Given the description of an element on the screen output the (x, y) to click on. 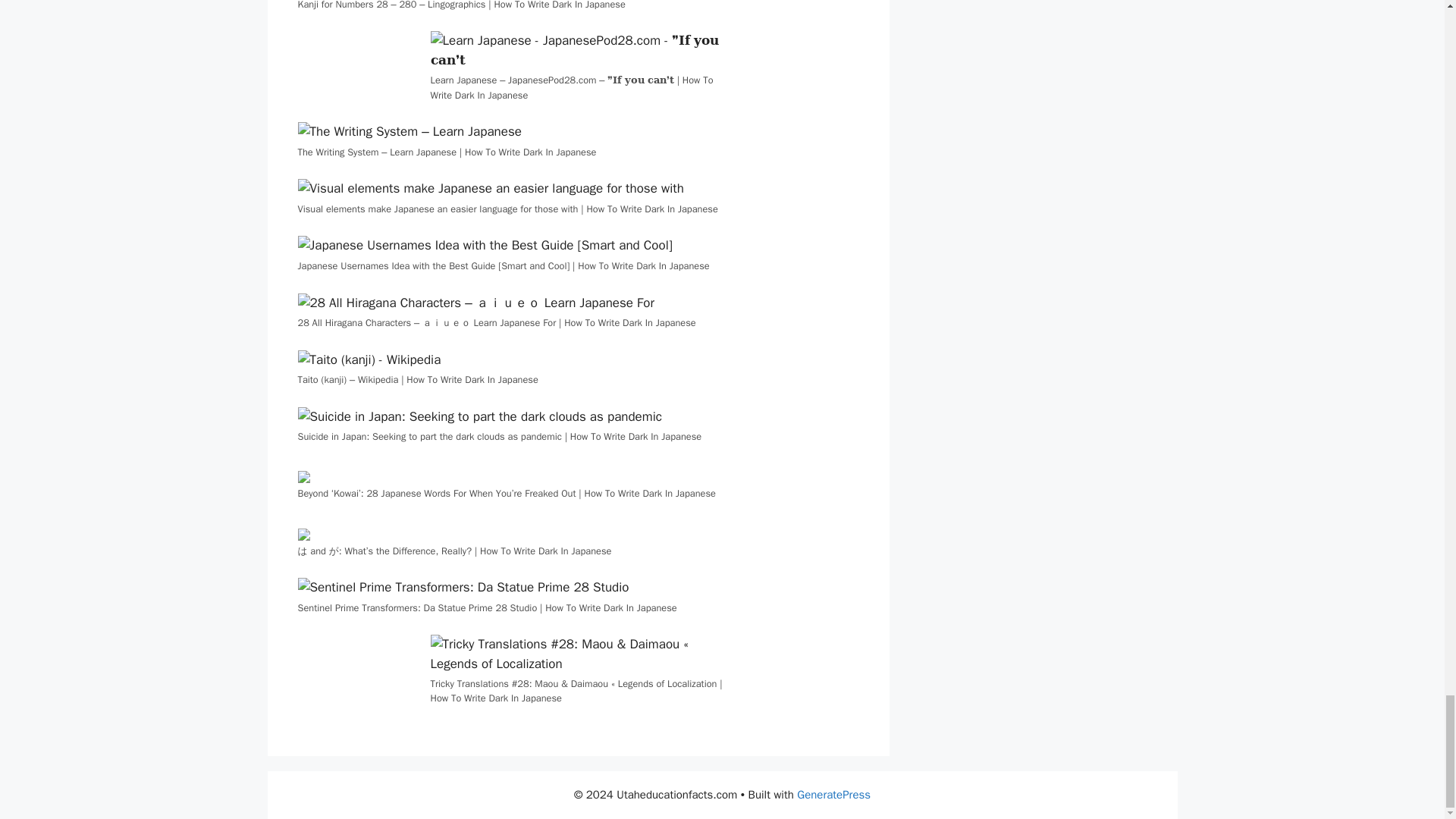
GeneratePress (833, 794)
